Given the description of an element on the screen output the (x, y) to click on. 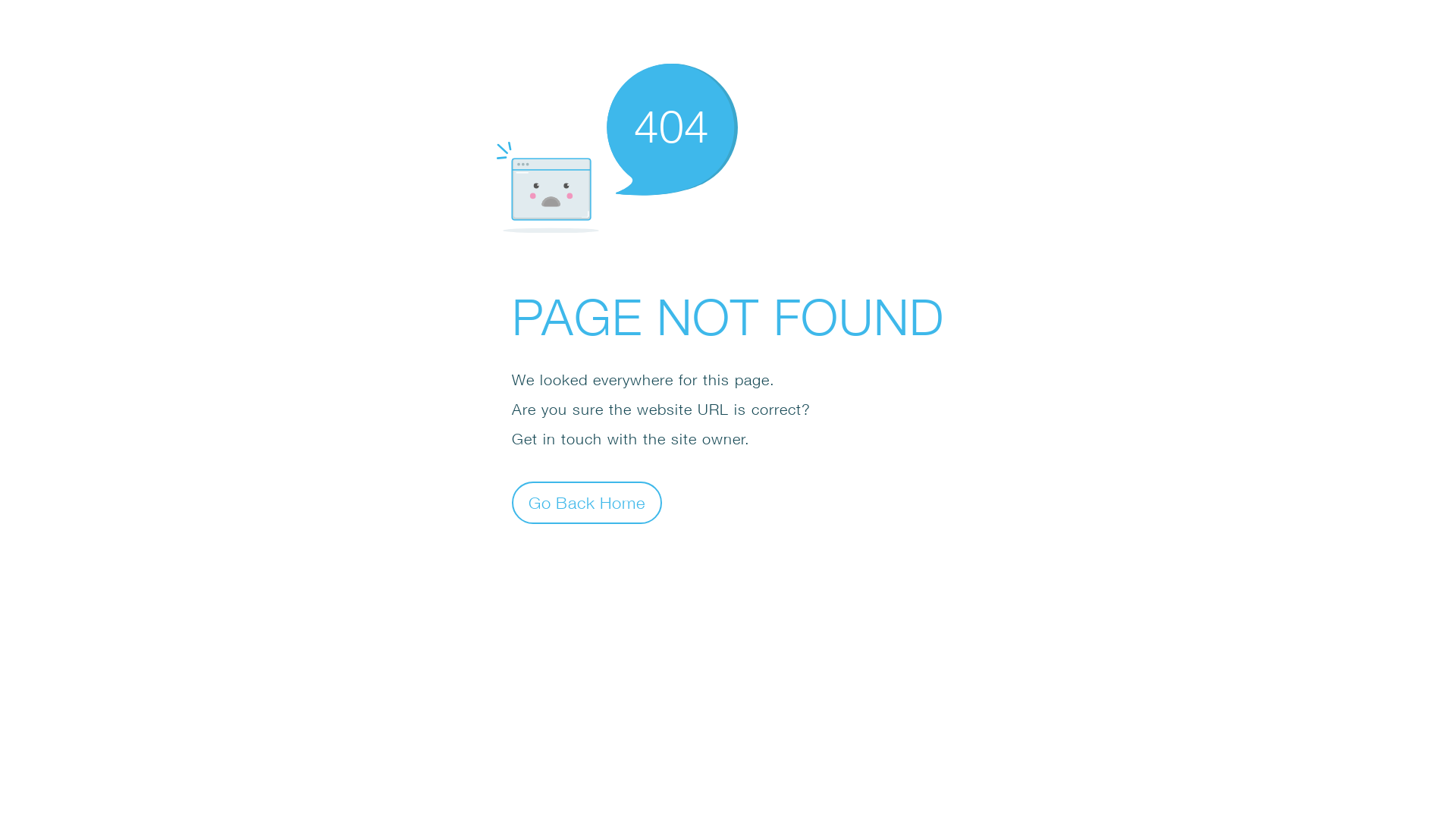
Go Back Home Element type: text (586, 502)
